Given the description of an element on the screen output the (x, y) to click on. 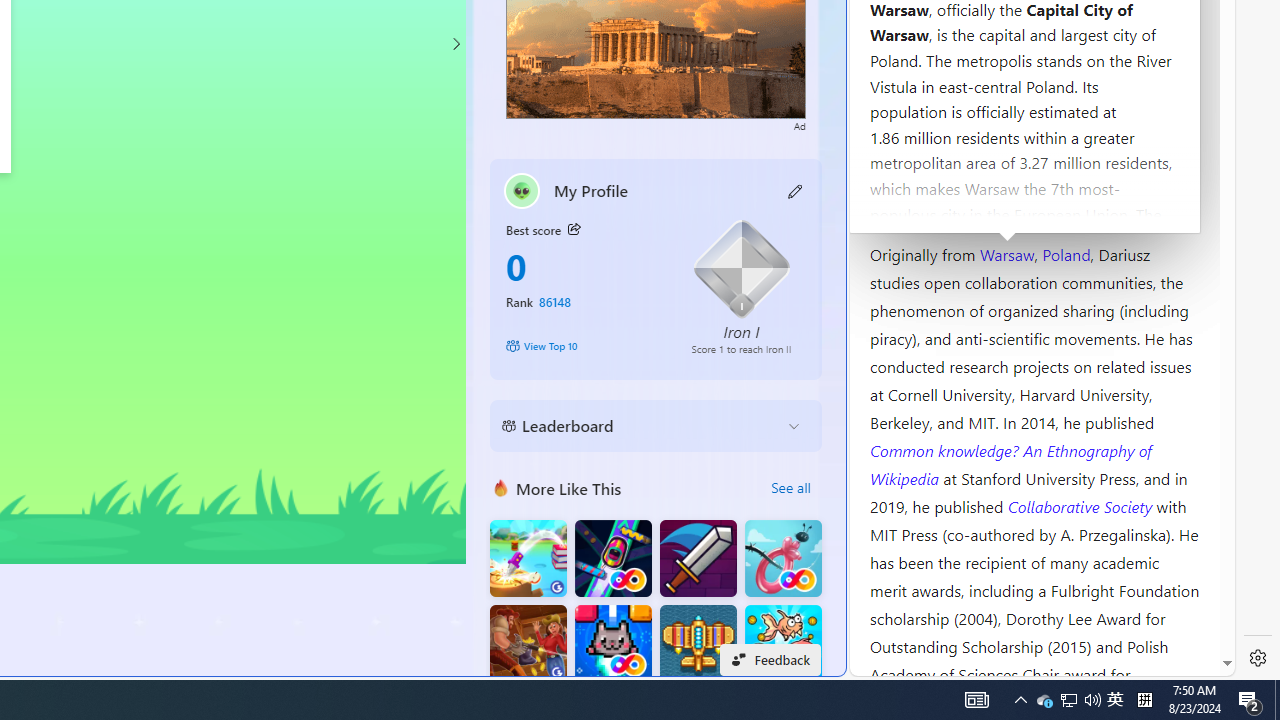
Kitten Force FRVR (612, 643)
Class: button (574, 229)
Common knowledge? An Ethnography of Wikipedia (1010, 463)
Class: button edit-icon (795, 190)
google_privacy_policy_zh-CN.pdf (687, 482)
""'s avatar (522, 190)
Saloon Robbery (528, 643)
